Given the description of an element on the screen output the (x, y) to click on. 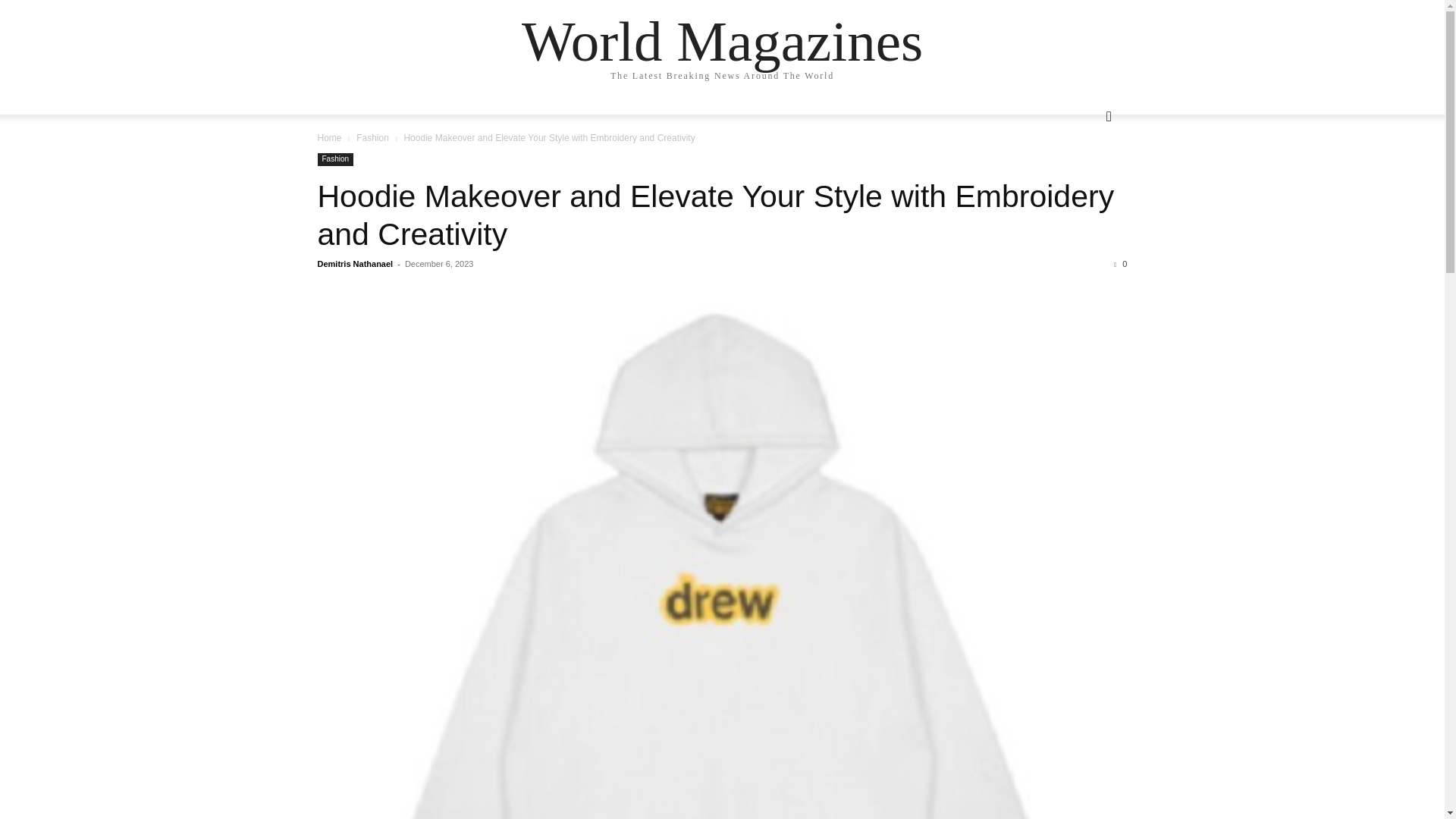
Home (328, 137)
View all posts in Fashion (372, 137)
Fashion (372, 137)
World Magazines (722, 41)
Search (1085, 177)
Fashion (335, 159)
0 (1119, 263)
Demitris Nathanael (355, 263)
